Given the description of an element on the screen output the (x, y) to click on. 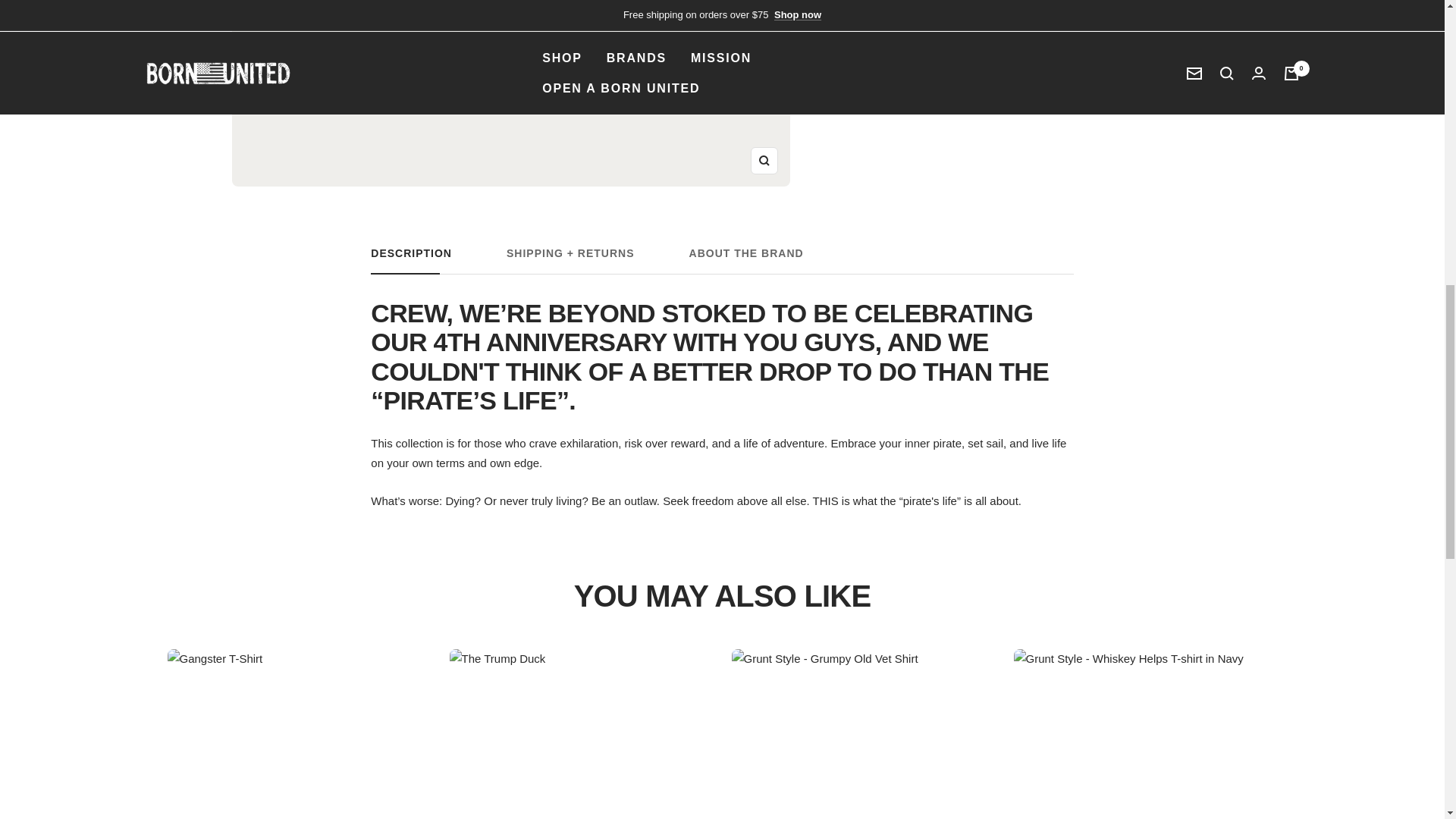
ABOUT THE BRAND (745, 260)
DESCRIPTION (411, 260)
Zoom (764, 160)
